Given the description of an element on the screen output the (x, y) to click on. 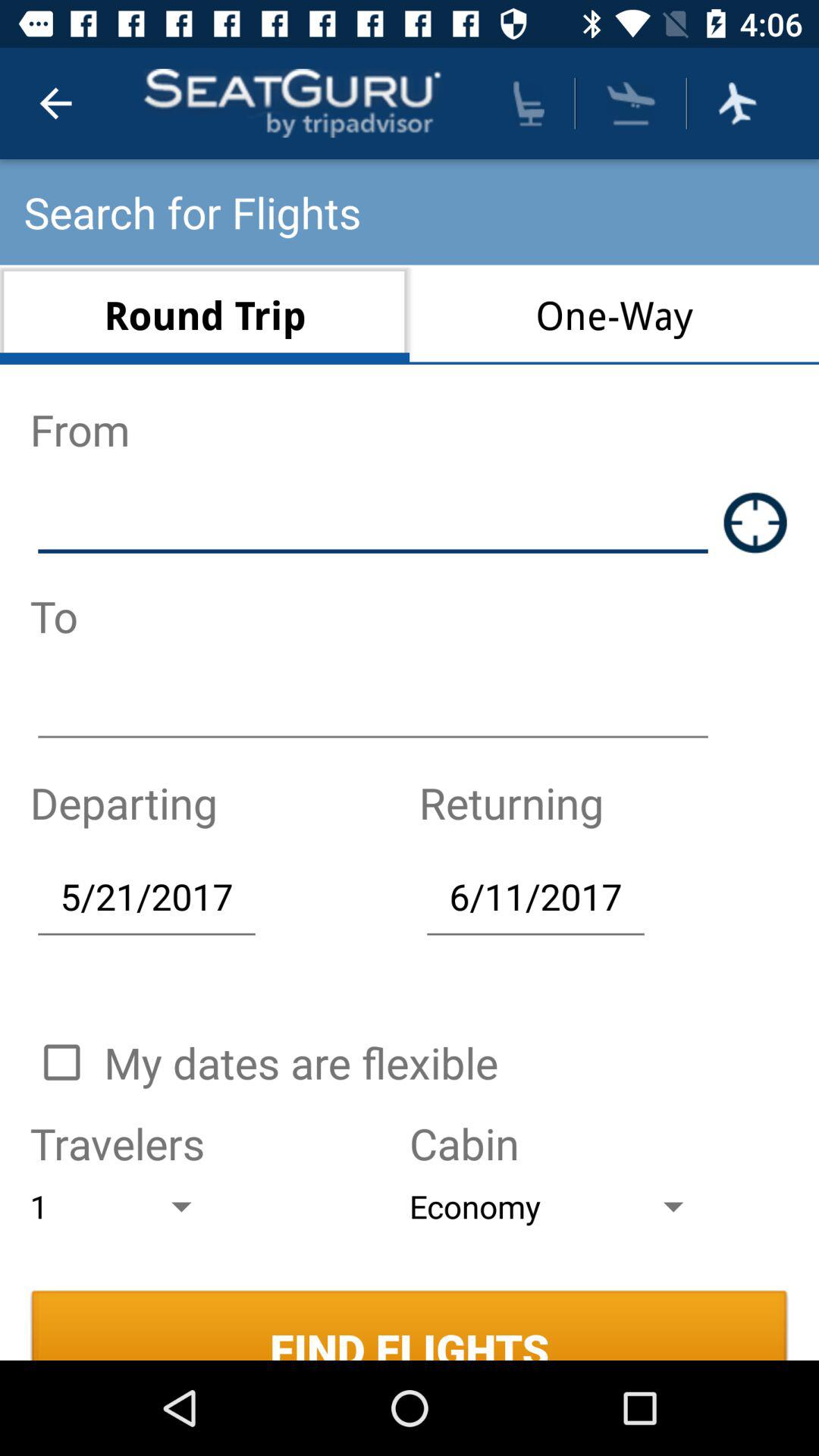
select button (61, 1062)
